Given the description of an element on the screen output the (x, y) to click on. 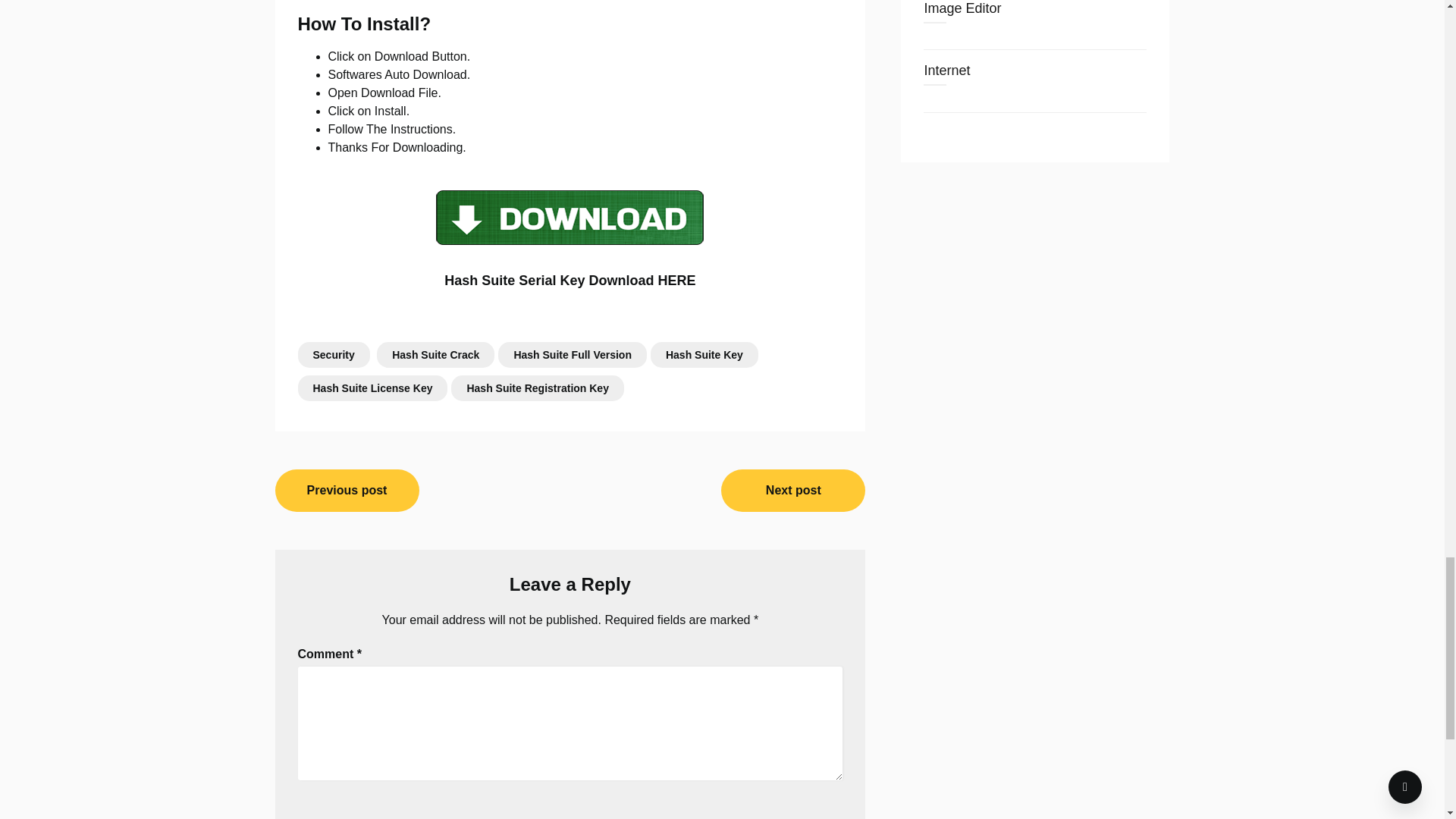
Hash Suite Key (704, 354)
Next post (792, 490)
Previous post (347, 490)
Hash Suite License Key (371, 388)
Hash Suite Crack (436, 354)
Hash Suite Full Version (571, 354)
Hash Suite Registration Key (537, 388)
Security (333, 354)
